Given the description of an element on the screen output the (x, y) to click on. 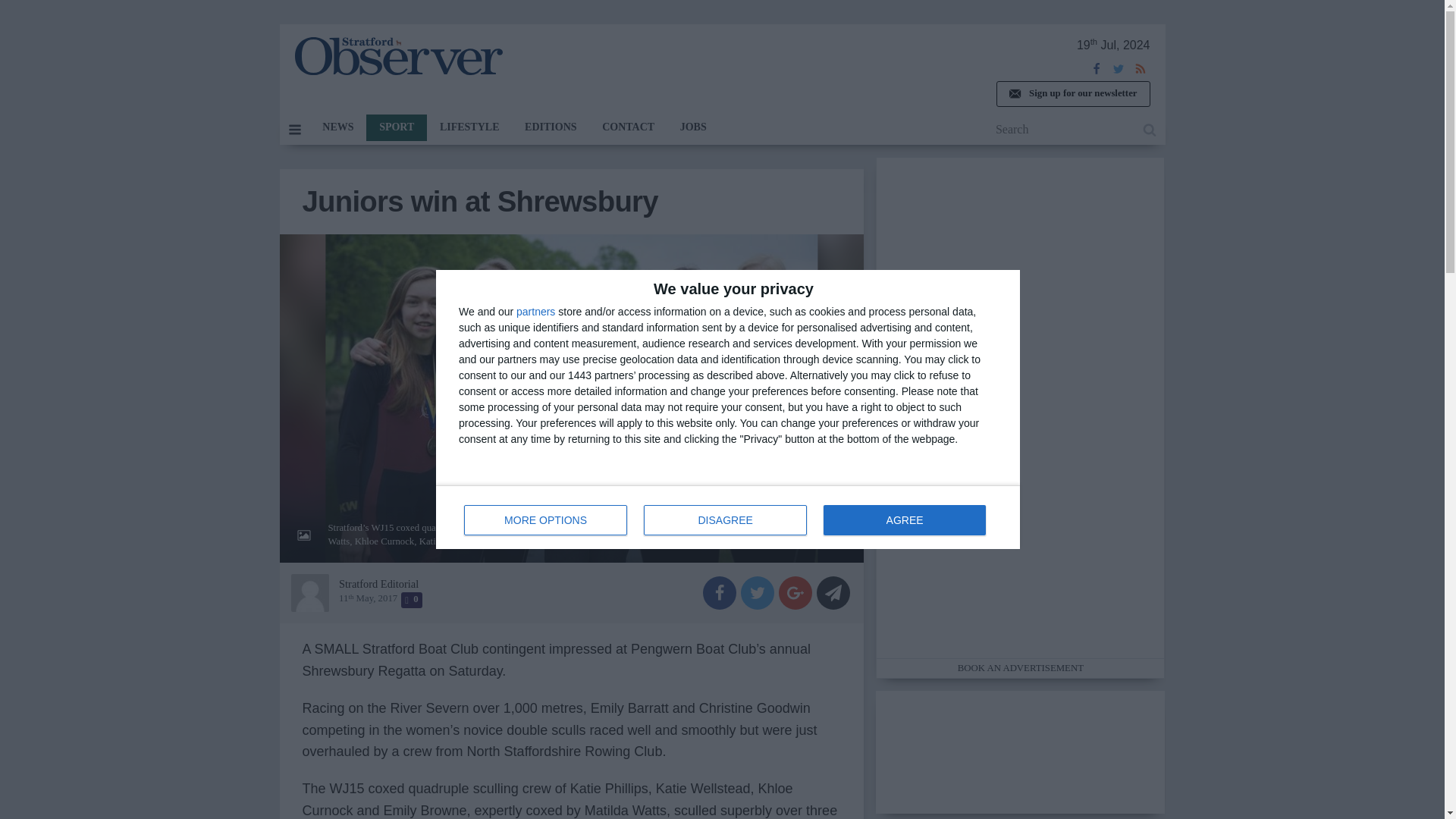
NEWS (337, 127)
LIFESTYLE (469, 127)
  Sign up for our newsletter (1072, 94)
The Stratford Observer (398, 55)
MORE OPTIONS (727, 516)
partners (545, 520)
DISAGREE (535, 311)
SPORT (724, 520)
AGREE (396, 127)
